Given the description of an element on the screen output the (x, y) to click on. 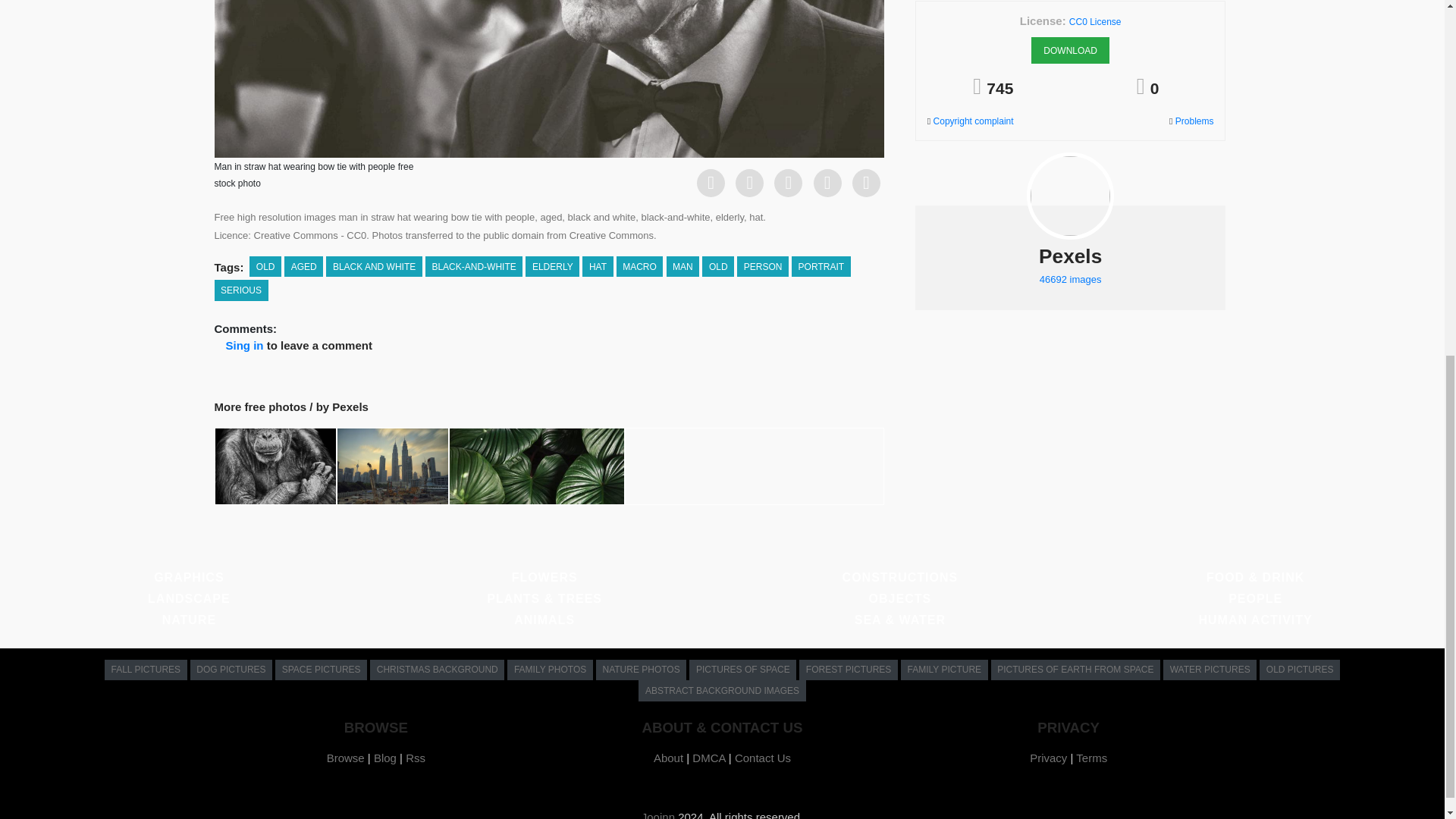
Yellow Tower Crane (392, 466)
Green Leaf Plant (536, 466)
Sing in (244, 345)
OLD (264, 266)
Grass Field and Trees during Sunset (753, 466)
BLACK-AND-WHITE (473, 266)
PORTRAIT (821, 266)
BLACK AND WHITE (374, 266)
MAN (683, 266)
OLD (717, 266)
